Given the description of an element on the screen output the (x, y) to click on. 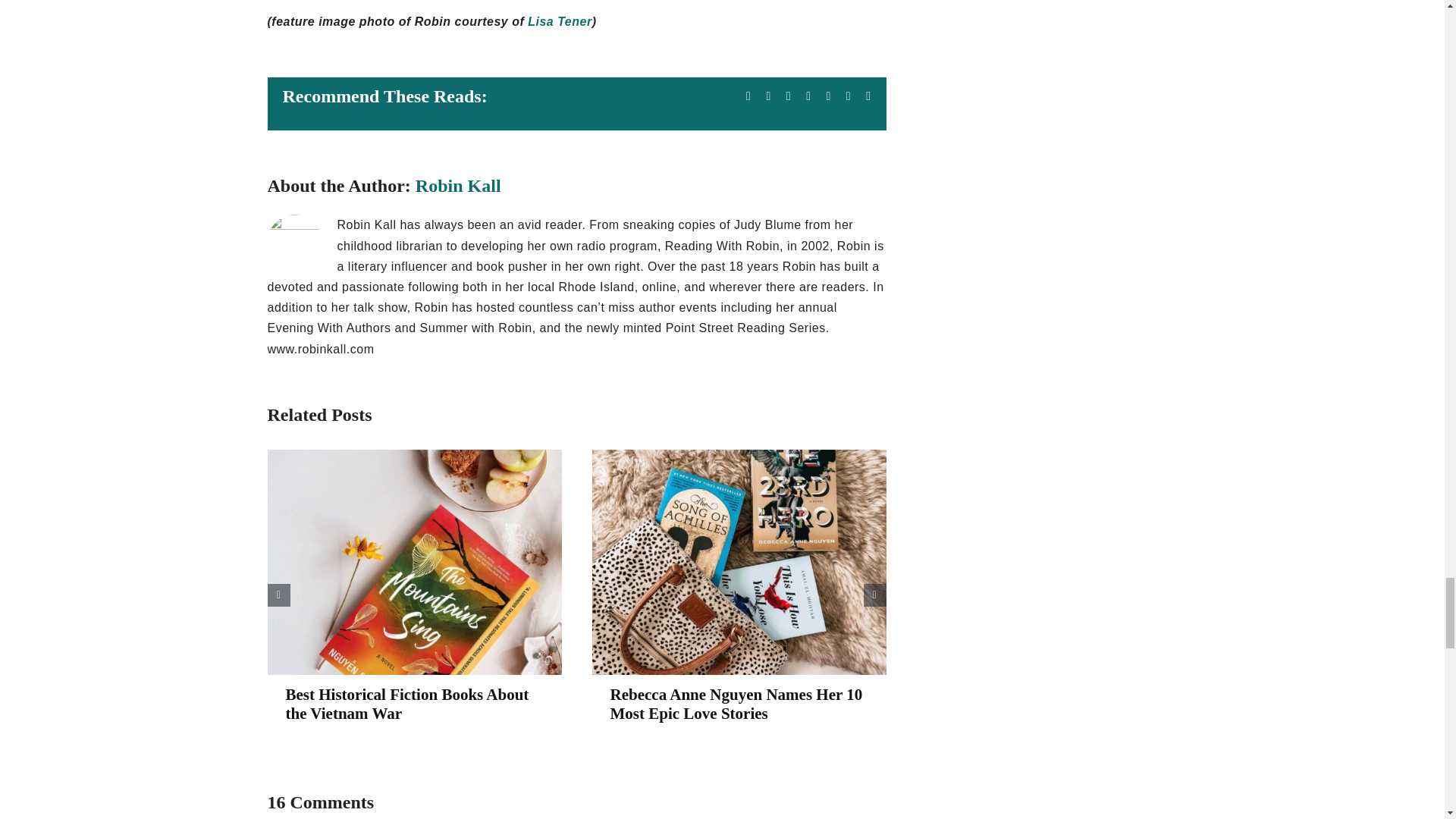
Rebecca Anne Nguyen Names Her 10 Most Epic Love Stories (735, 703)
Best Historical Fiction Books About the Vietnam War (406, 703)
Posts by Robin Kall (457, 185)
